Given the description of an element on the screen output the (x, y) to click on. 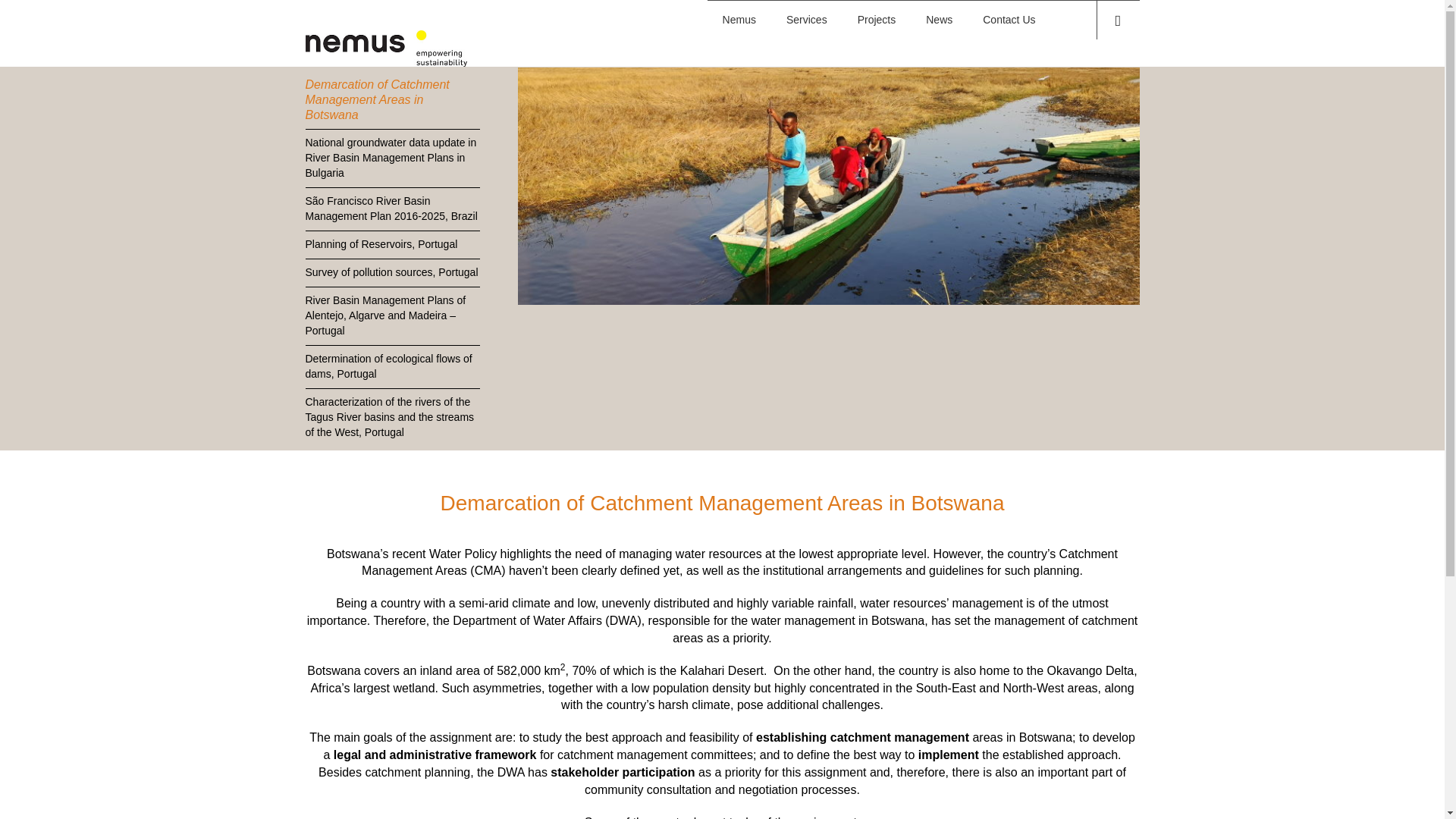
Planning of Reservoirs, Portugal (391, 244)
Contact Us (1008, 20)
Services (807, 20)
Demarcation of Catchment Management Areas in Botswana (391, 99)
News (939, 20)
Nemus (739, 20)
Determination of ecological flows of dams, Portugal (391, 366)
Projects (877, 20)
Survey of pollution sources, Portugal (391, 272)
